Given the description of an element on the screen output the (x, y) to click on. 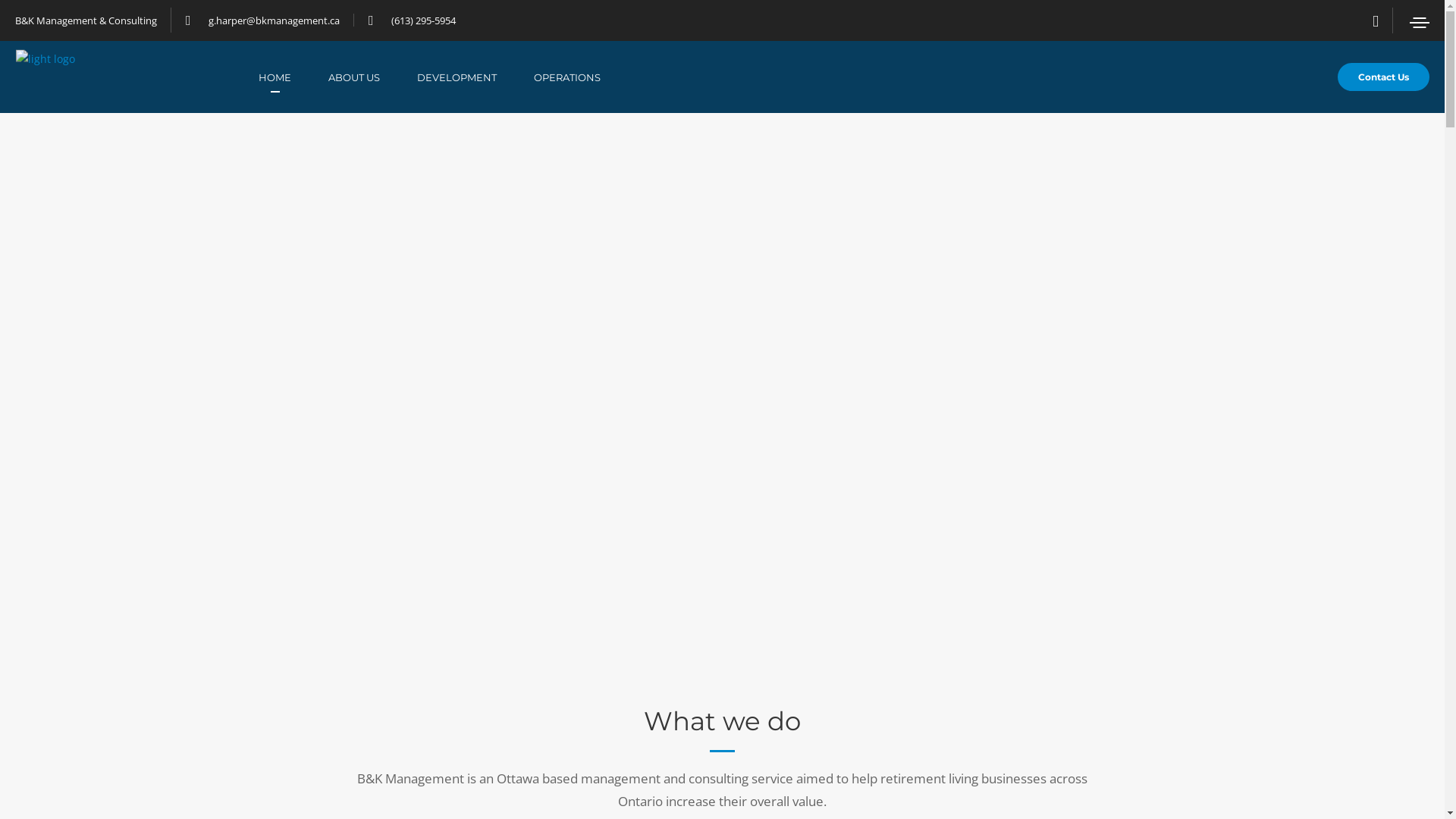
OPERATIONS Element type: text (585, 76)
DEVELOPMENT Element type: text (475, 76)
ABOUT US Element type: text (372, 76)
Contact Us Element type: text (1383, 76)
HOME Element type: text (293, 76)
